Given the description of an element on the screen output the (x, y) to click on. 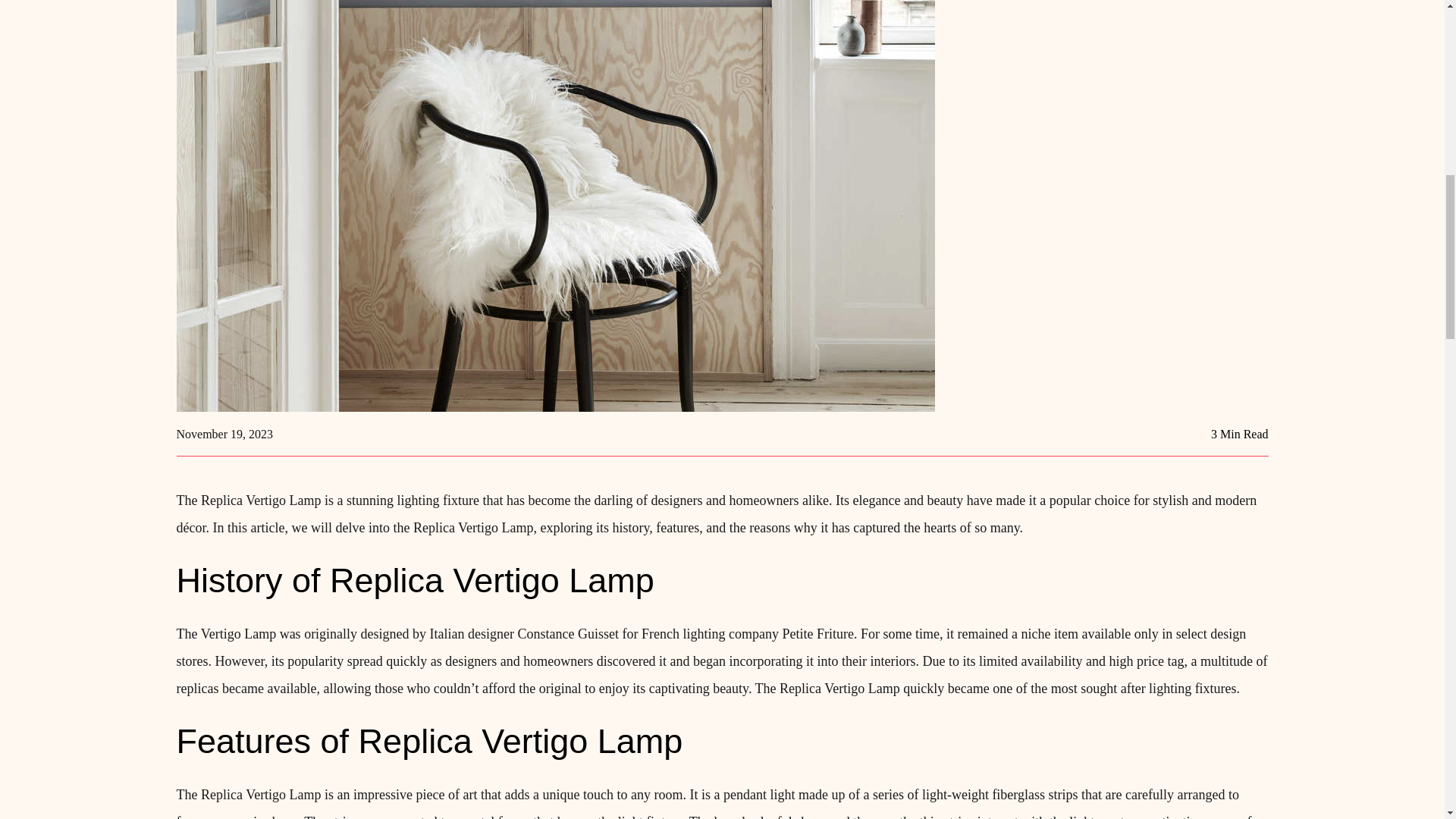
November 19, 2023 (224, 433)
